Given the description of an element on the screen output the (x, y) to click on. 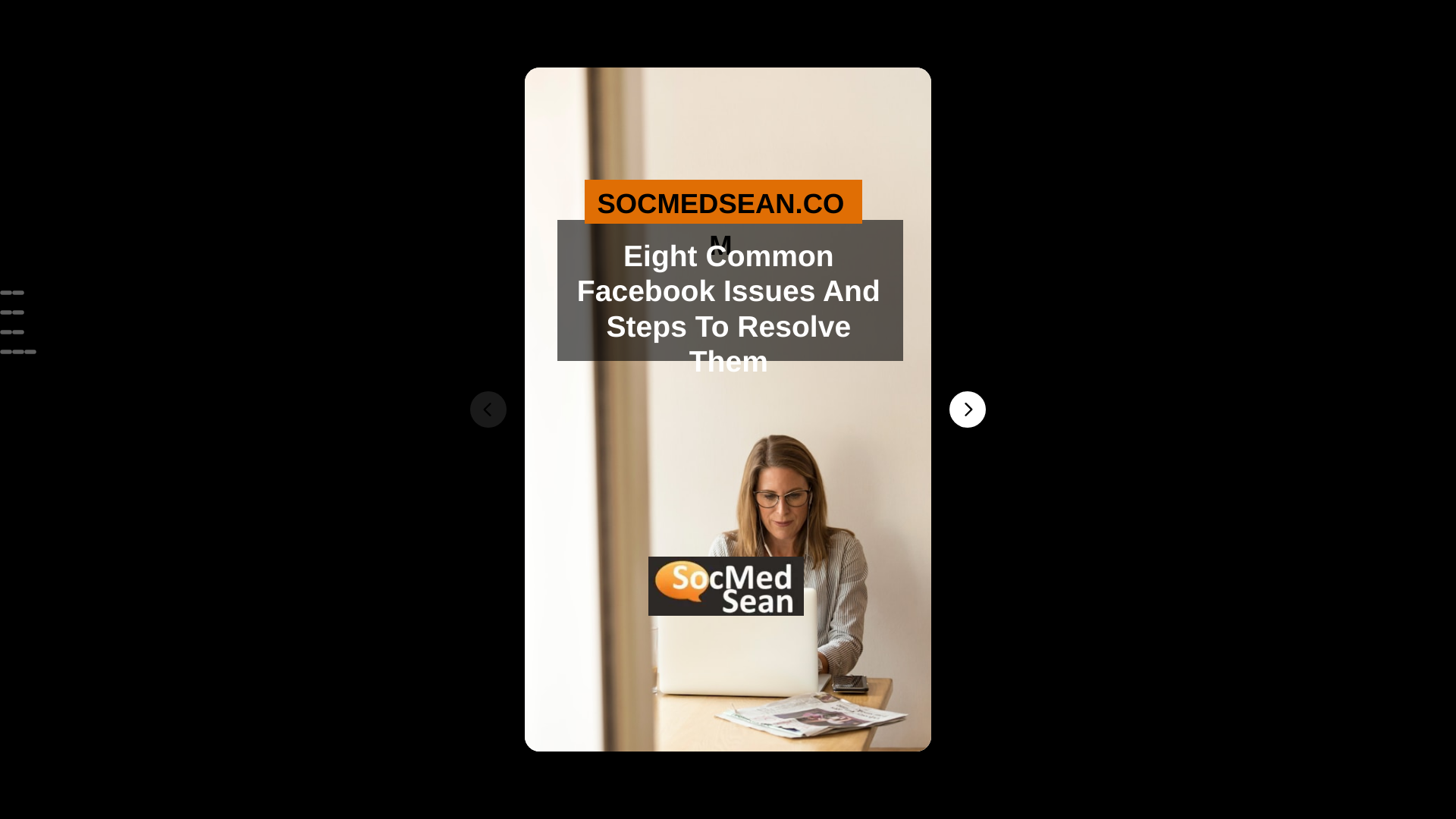
SOCMEDSEAN.COM (720, 204)
